Given the description of an element on the screen output the (x, y) to click on. 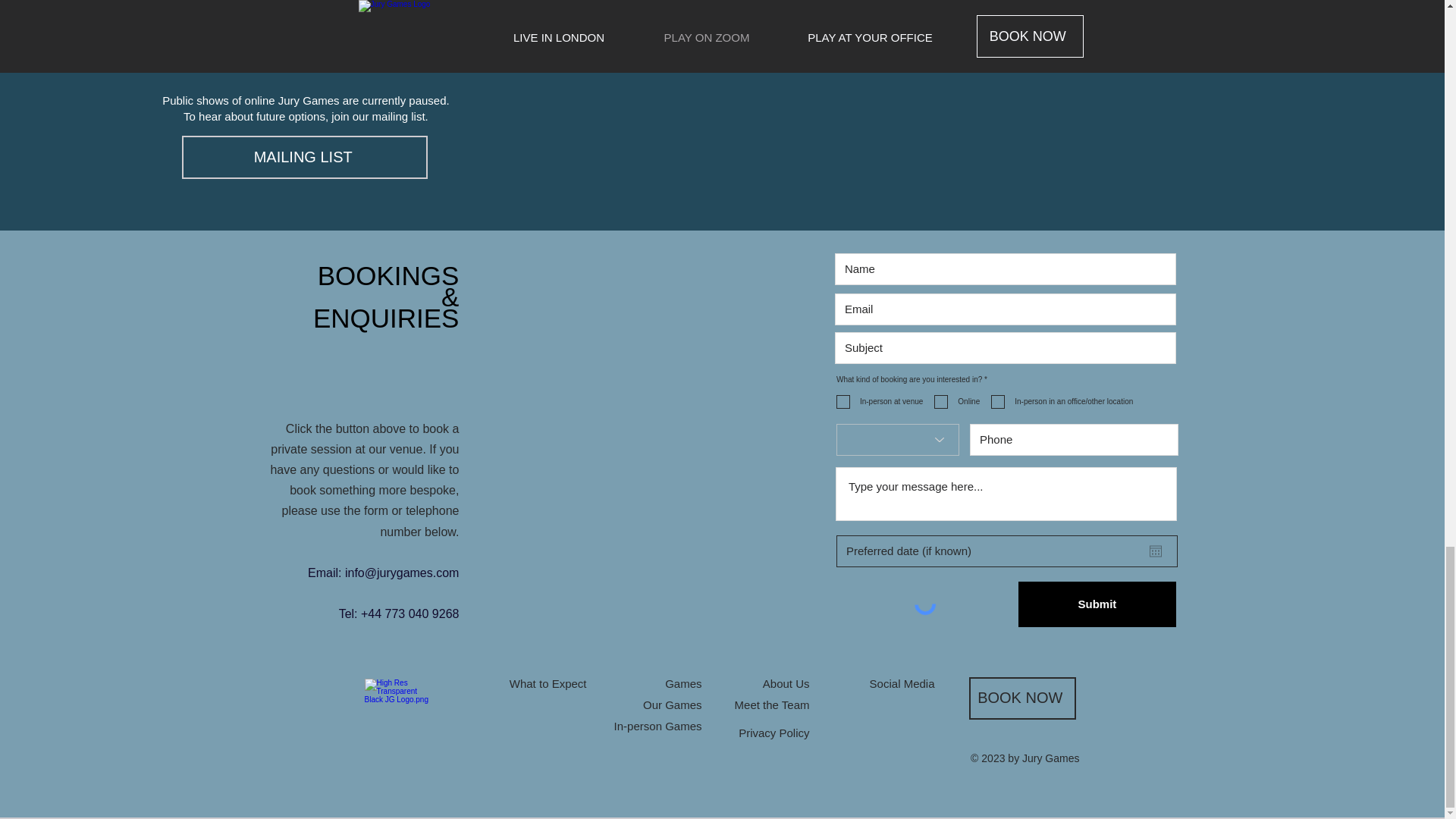
Our Games (672, 704)
In-person Games (657, 725)
BOOK NOW (1022, 698)
About Us (785, 683)
Meet the Team (772, 704)
Privacy Policy (773, 732)
BOOK NOW (304, 29)
Submit (1096, 604)
MAILING LIST (305, 157)
What to Expect (547, 683)
